Given the description of an element on the screen output the (x, y) to click on. 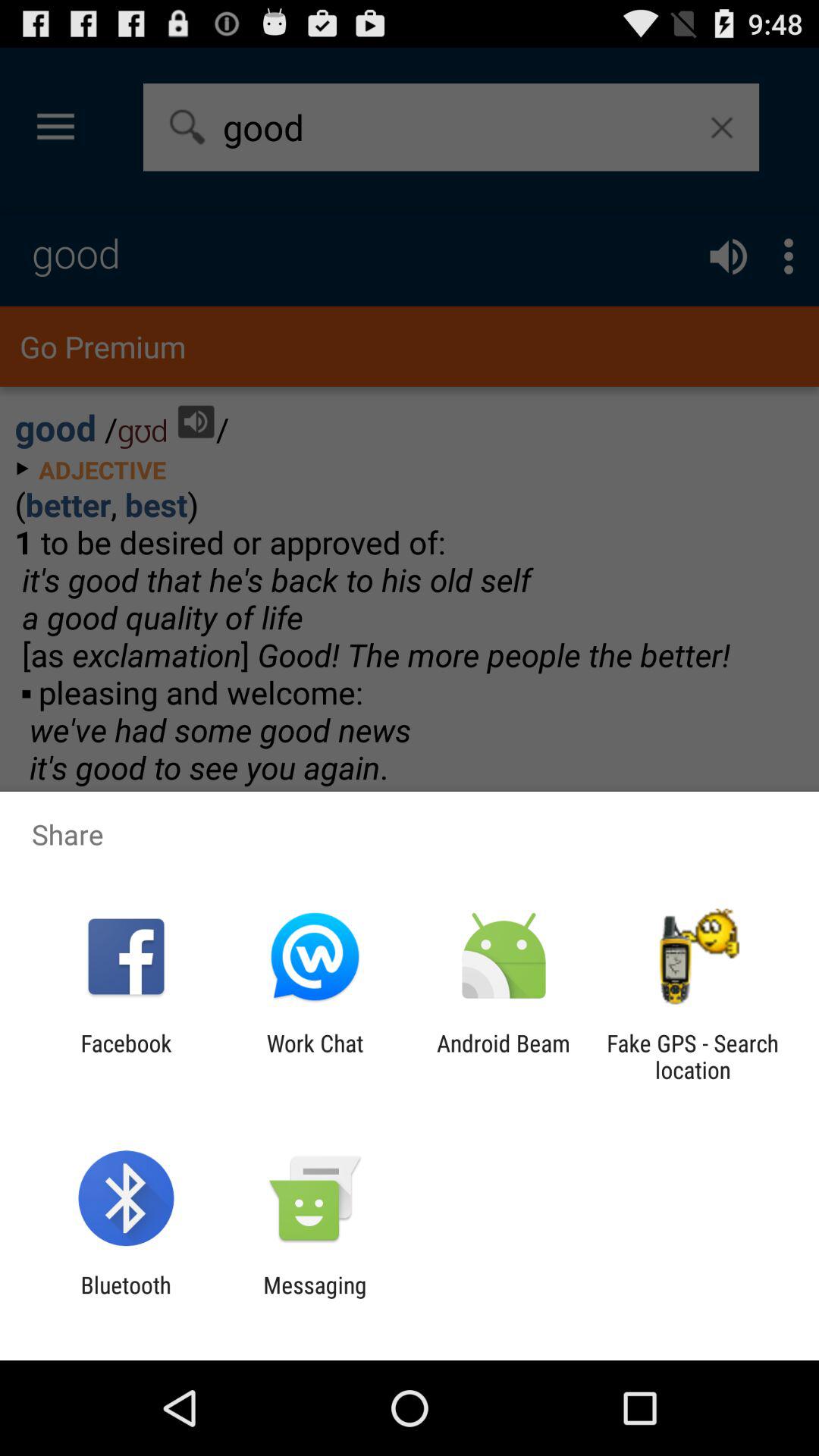
tap the app to the left of work chat icon (125, 1056)
